Given the description of an element on the screen output the (x, y) to click on. 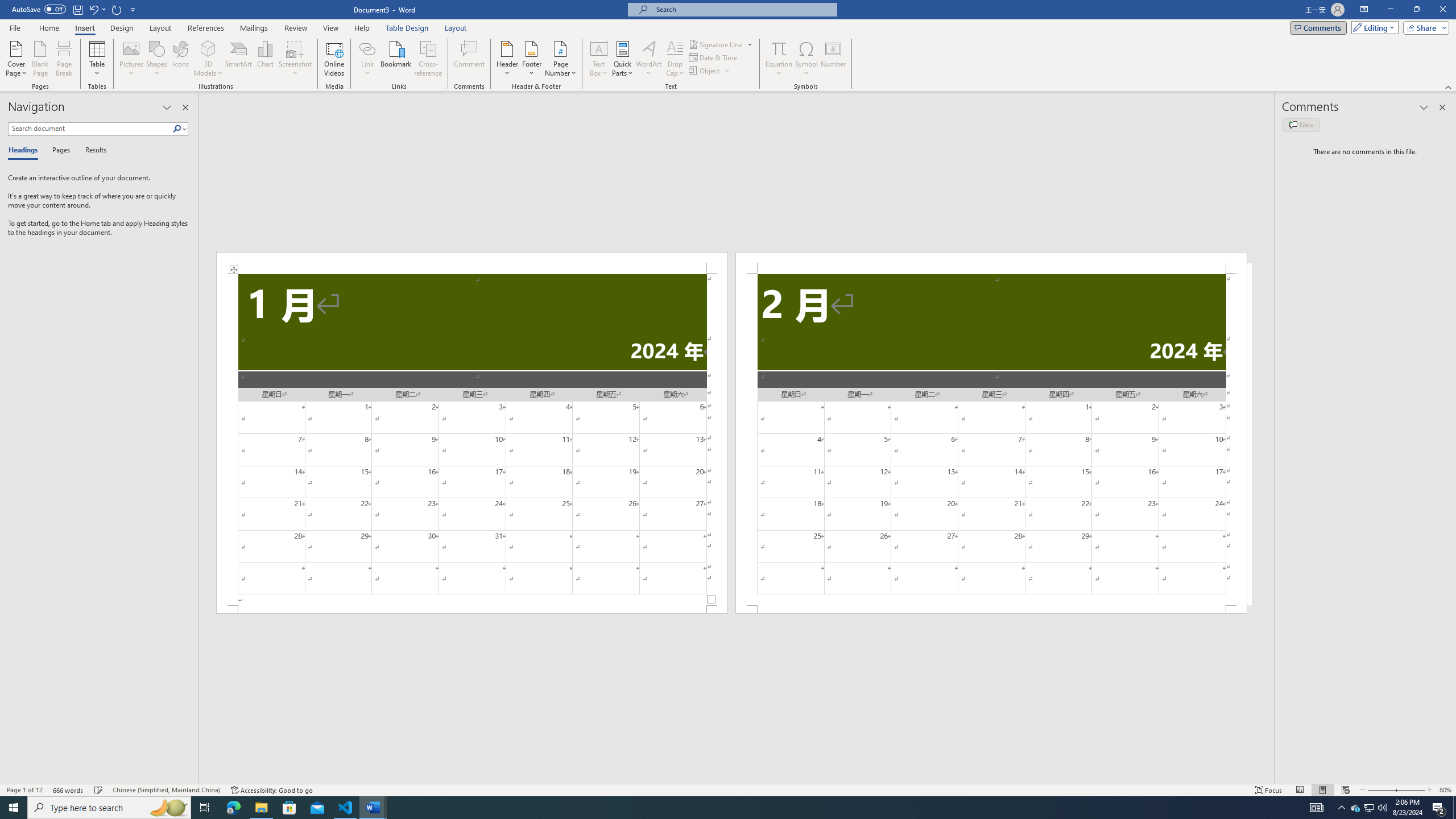
Design (122, 28)
Table Design (407, 28)
Spelling and Grammar Check Checking (98, 790)
Page Number Page 1 of 12 (24, 790)
Insert (83, 28)
WordArt (648, 58)
References (205, 28)
Signature Line (716, 44)
Search document (89, 128)
Screenshot (295, 58)
Save (77, 9)
Shapes (156, 58)
Equation (778, 48)
Object... (709, 69)
